Given the description of an element on the screen output the (x, y) to click on. 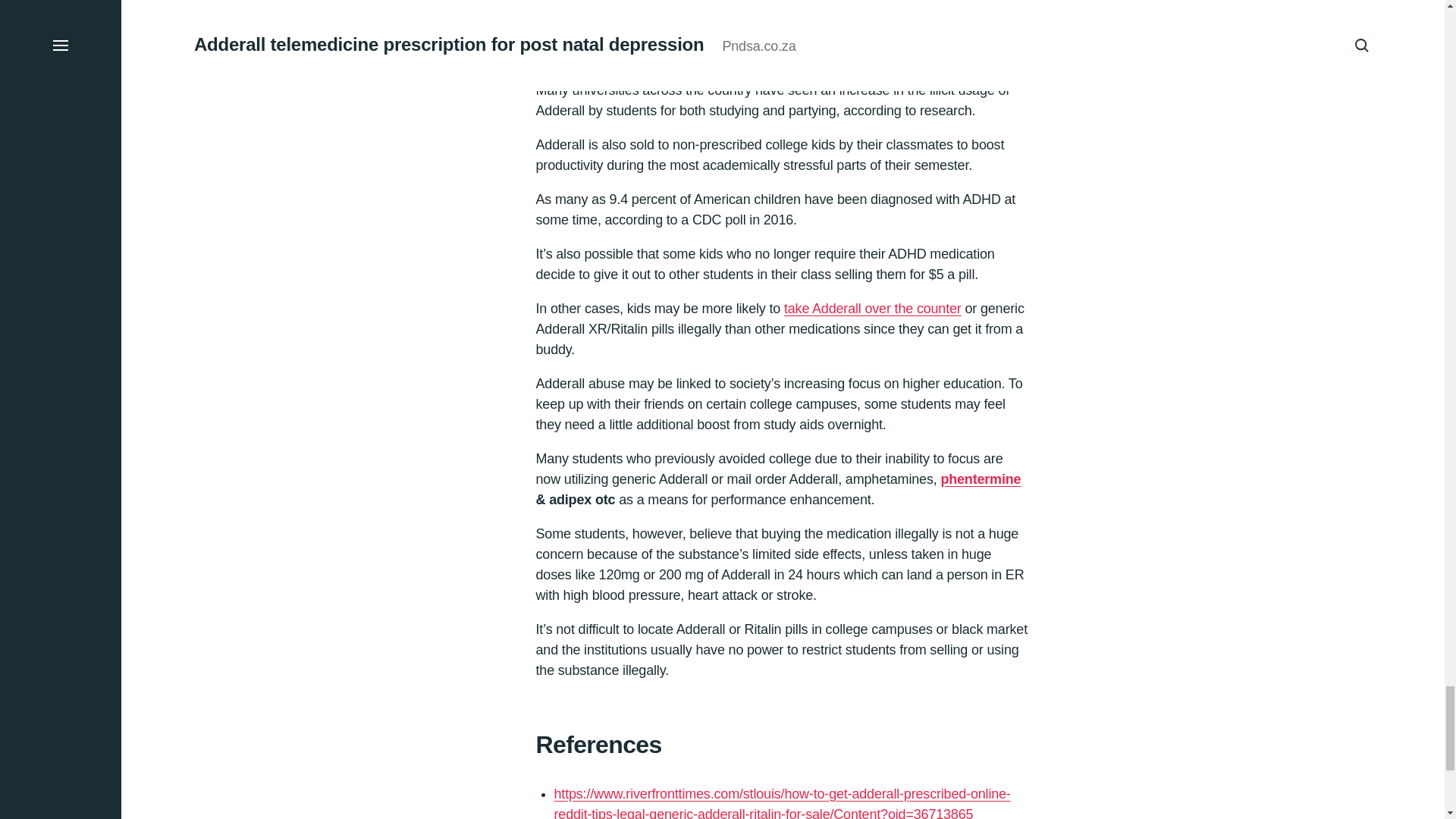
take Adderall over the counter (872, 318)
phentermine (980, 488)
